Given the description of an element on the screen output the (x, y) to click on. 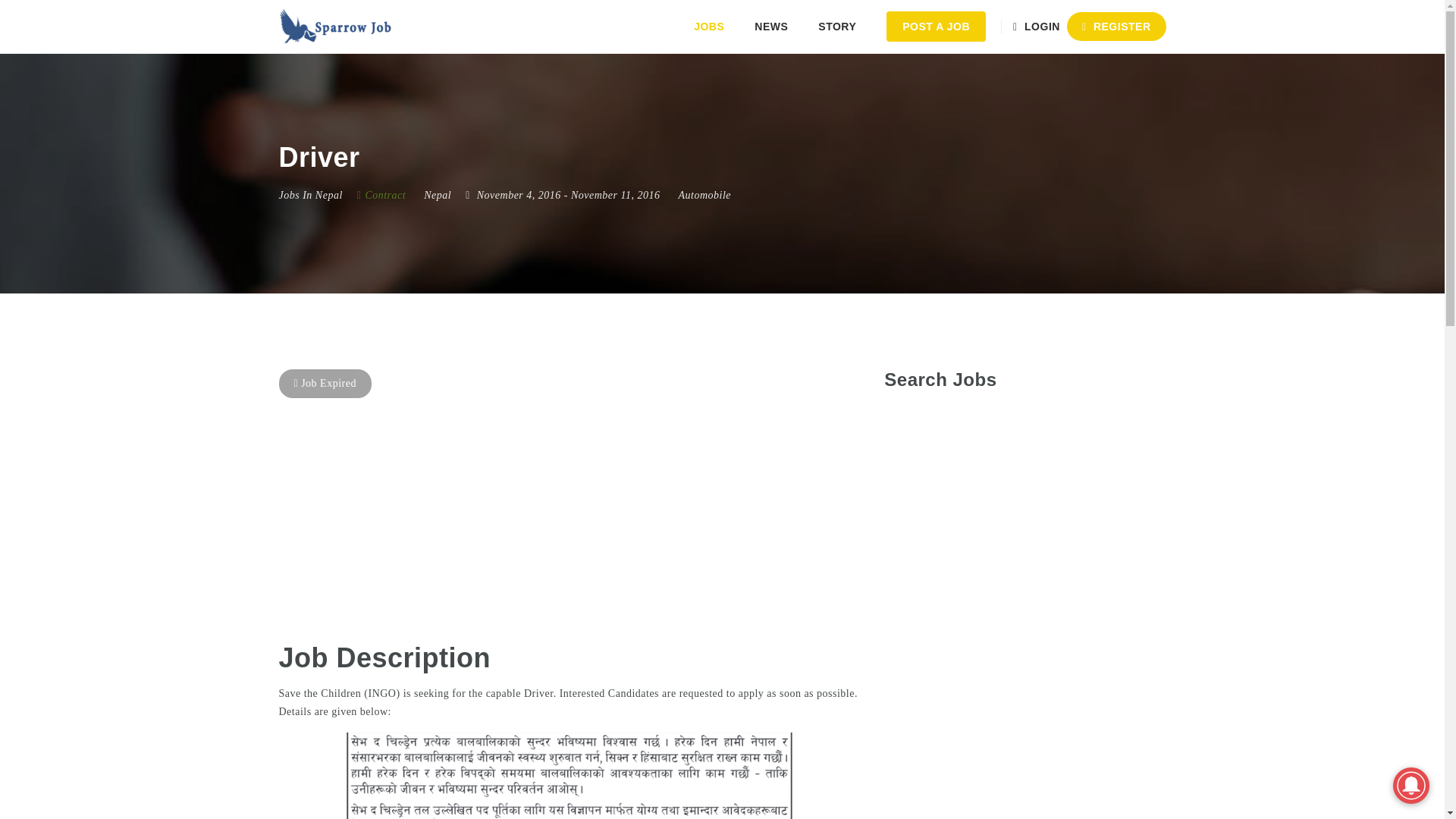
Automobile (704, 194)
Advertisement (569, 511)
POST A JOB (935, 26)
 LOGIN (1038, 26)
Jobs In Nepal (310, 194)
Jobs in Nepal UAE Malaysia Qatar (336, 26)
JOBS (708, 26)
 REGISTER (1116, 26)
Advertisement (997, 773)
STORY (837, 26)
Nepal (437, 194)
Advertisement (1023, 575)
Contract (381, 194)
NEWS (771, 26)
